Given the description of an element on the screen output the (x, y) to click on. 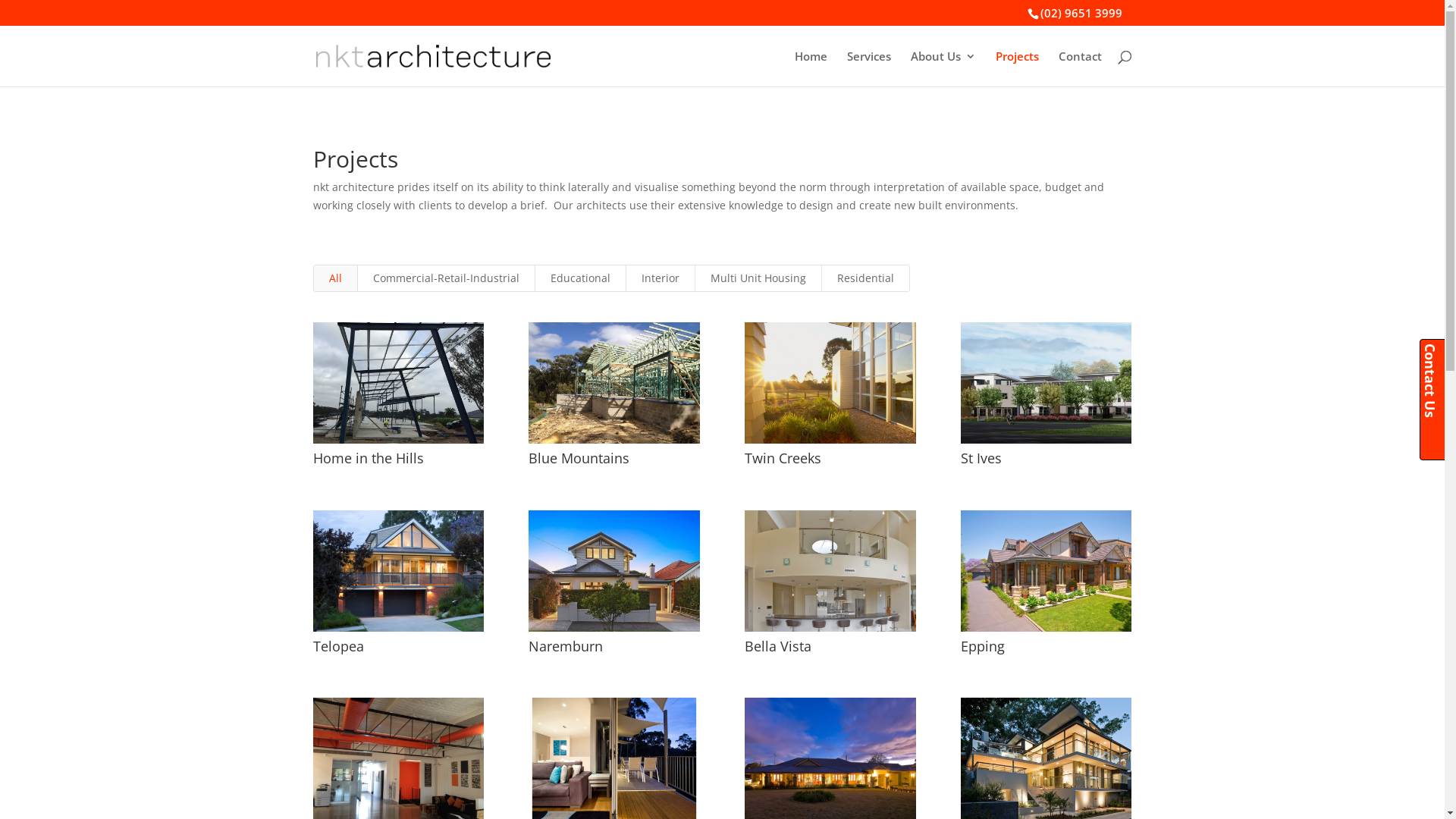
Home Element type: text (810, 68)
About Us Element type: text (942, 68)
Naremburn Element type: text (565, 646)
Residential Element type: text (864, 277)
Projects Element type: text (1016, 68)
Blue Mountains Element type: text (578, 457)
Bella Vista Element type: text (777, 646)
Multi Unit Housing Element type: text (758, 277)
Epping Element type: text (982, 646)
Educational Element type: text (579, 277)
Home in the Hills Element type: text (367, 457)
Interior Element type: text (659, 277)
All Element type: text (334, 277)
Commercial-Retail-Industrial Element type: text (445, 277)
St Ives Element type: text (980, 457)
Contact Element type: text (1079, 68)
Services Element type: text (868, 68)
Twin Creeks Element type: text (782, 457)
Telopea Element type: text (337, 646)
